Given the description of an element on the screen output the (x, y) to click on. 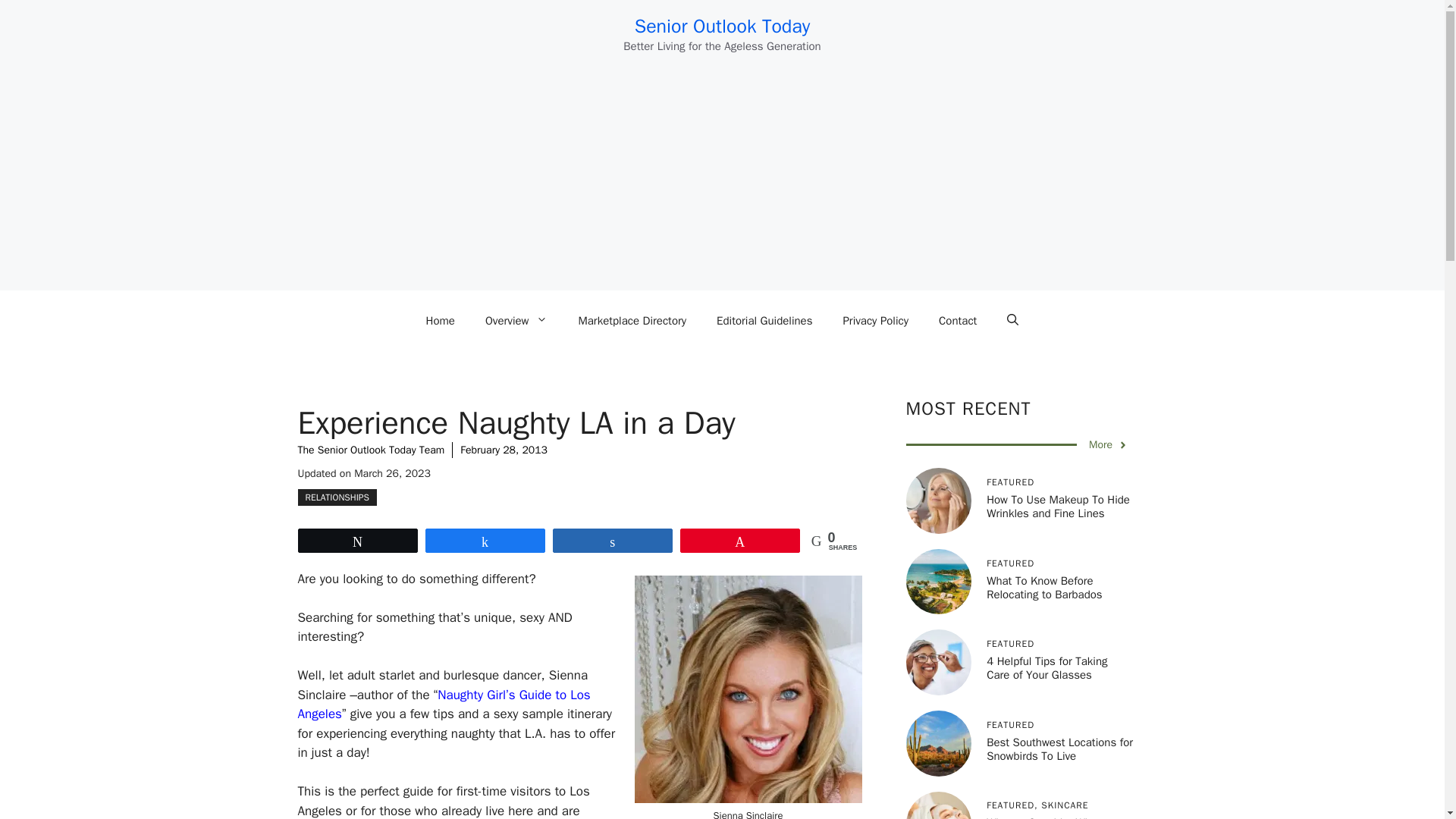
RELATIONSHIPS (336, 497)
Marketplace Directory (631, 320)
Senior Outlook Today (722, 25)
Editorial Guidelines (764, 320)
Contact (957, 320)
Privacy Policy (875, 320)
Home (440, 320)
Experience Naughty LA in a Day 1 (747, 689)
The Senior Outlook Today Team (370, 449)
